Given the description of an element on the screen output the (x, y) to click on. 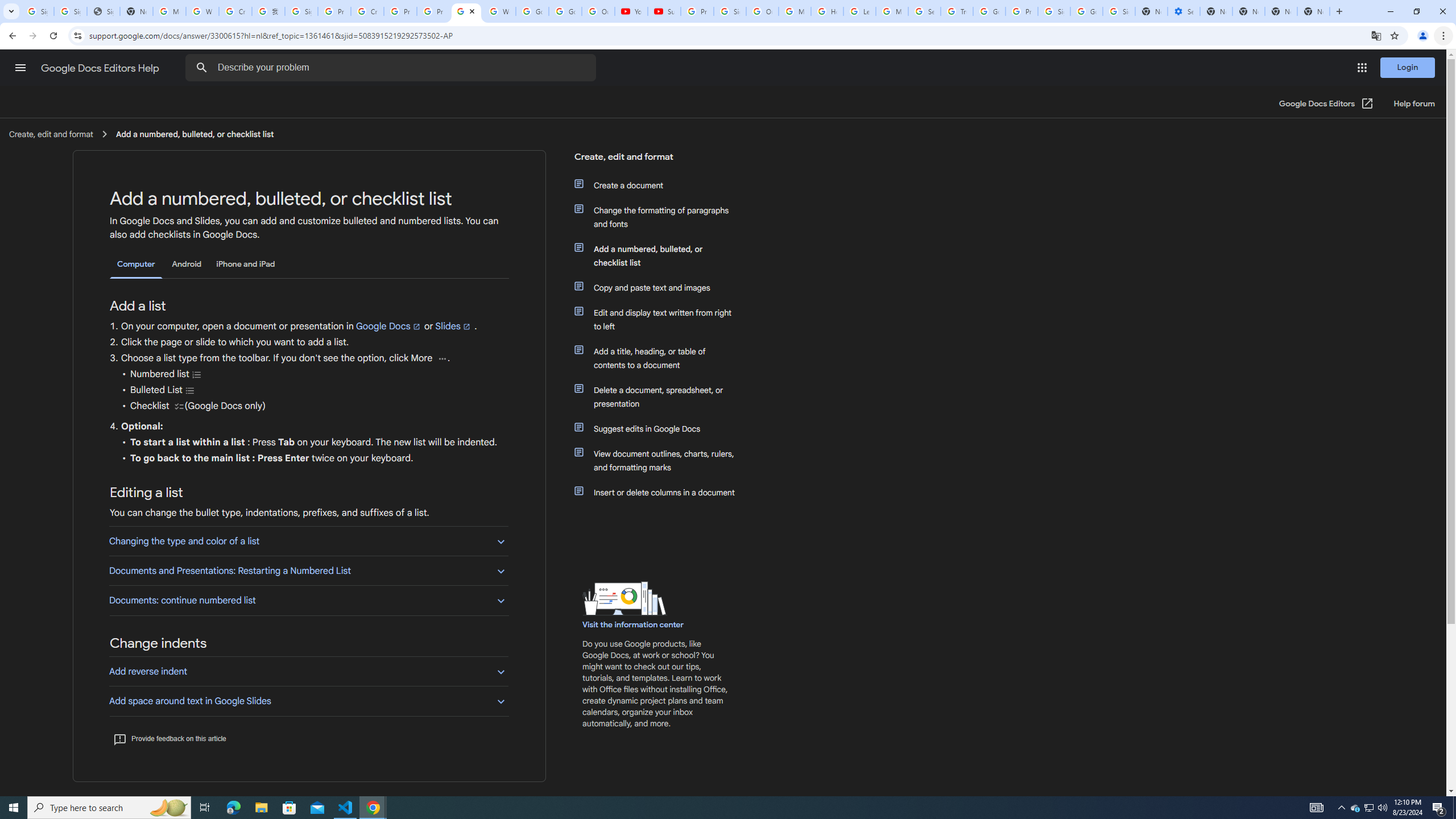
Translate this page (1376, 35)
Google Docs Editors (Opens in new window) (1326, 103)
Computer (136, 264)
Sign in - Google Accounts (70, 11)
Create a document (661, 185)
Google Ads - Sign in (989, 11)
Google Docs (388, 326)
Android (186, 263)
